Given the description of an element on the screen output the (x, y) to click on. 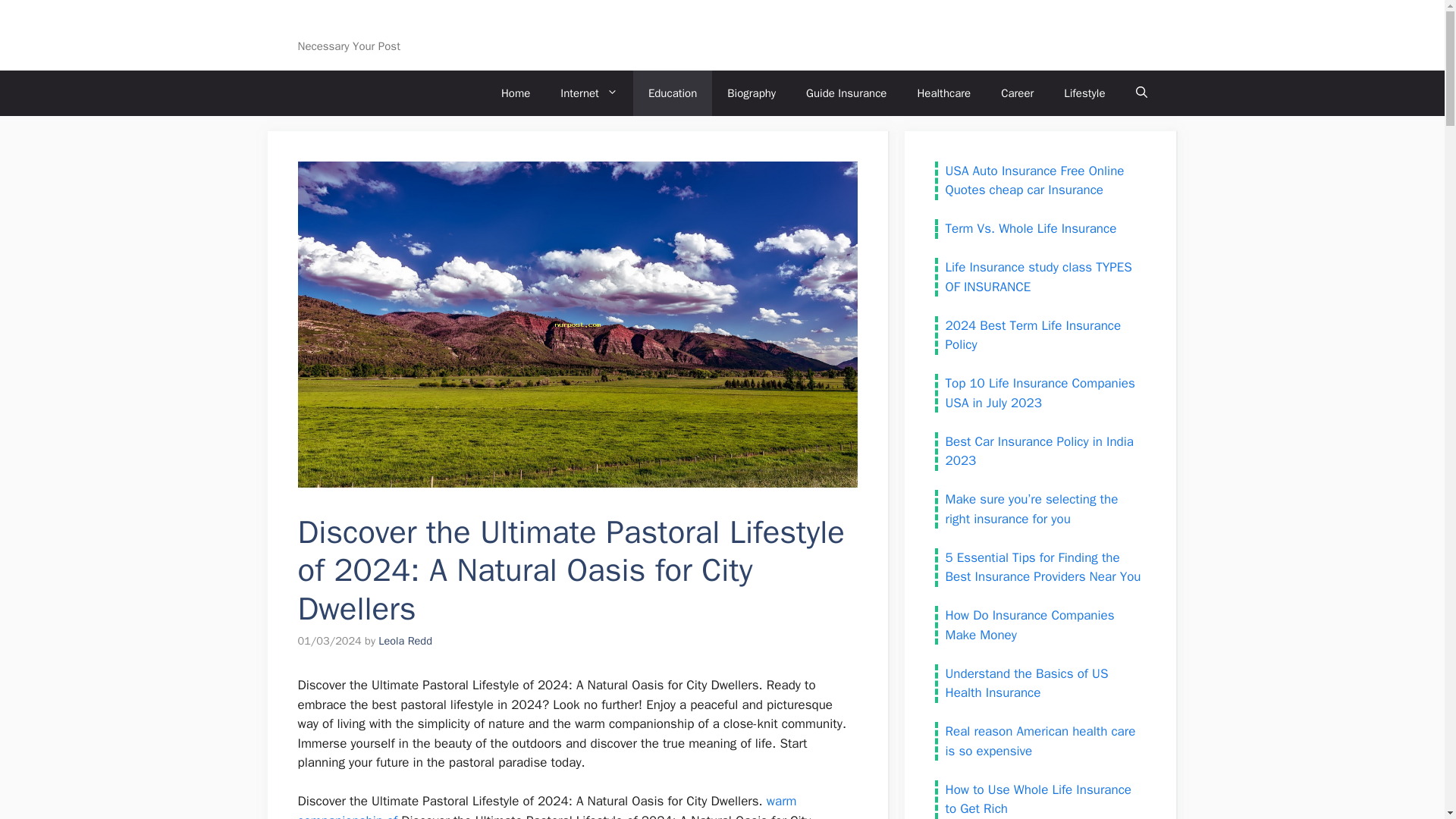
View all posts by Leola Redd (405, 640)
Lifestyle (1083, 92)
2024 Best Term Life Insurance Policy (1032, 334)
Real reason American health care is so expensive (1039, 741)
Biography (750, 92)
Term Vs. Whole Life Insurance (1030, 228)
Leola Redd (405, 640)
Career (1016, 92)
Nur Post (332, 25)
Life Insurance study class TYPES OF INSURANCE (1037, 276)
How Do Insurance Companies Make Money (1028, 624)
Education (672, 92)
USA Auto Insurance Free Online Quotes cheap car Insurance (1034, 180)
Internet (588, 92)
Healthcare (943, 92)
